Given the description of an element on the screen output the (x, y) to click on. 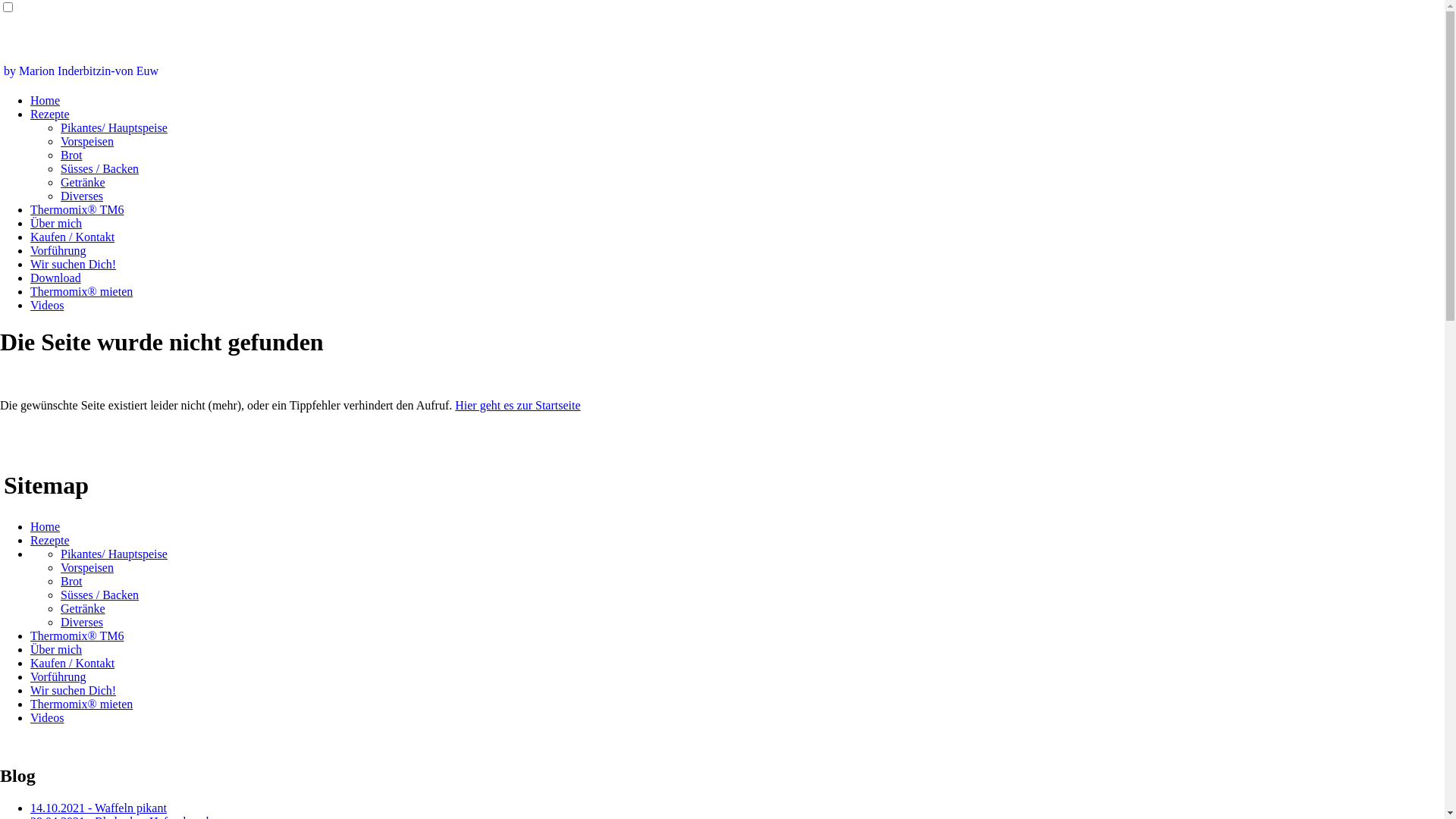
Wir suchen Dich! Element type: text (73, 263)
Wir suchen Dich! Element type: text (73, 690)
Rezepte Element type: text (49, 539)
Vorspeisen Element type: text (86, 140)
Diverses Element type: text (81, 195)
Pikantes/ Hauptspeise Element type: text (113, 553)
Pikantes/ Hauptspeise Element type: text (113, 127)
Diverses Element type: text (81, 621)
Download Element type: text (55, 277)
Videos Element type: text (46, 717)
Brot Element type: text (70, 154)
Brot Element type: text (70, 580)
Home Element type: text (44, 100)
Videos Element type: text (46, 304)
Vorspeisen Element type: text (86, 567)
Kaufen / Kontakt Element type: text (72, 236)
Home Element type: text (44, 526)
Kaufen / Kontakt Element type: text (72, 662)
Hier geht es zur Startseite Element type: text (517, 404)
14.10.2021 - Waffeln pikant Element type: text (98, 807)
Rezepte Element type: text (49, 113)
by Marion Inderbitzin-von Euw Element type: text (80, 70)
